Given the description of an element on the screen output the (x, y) to click on. 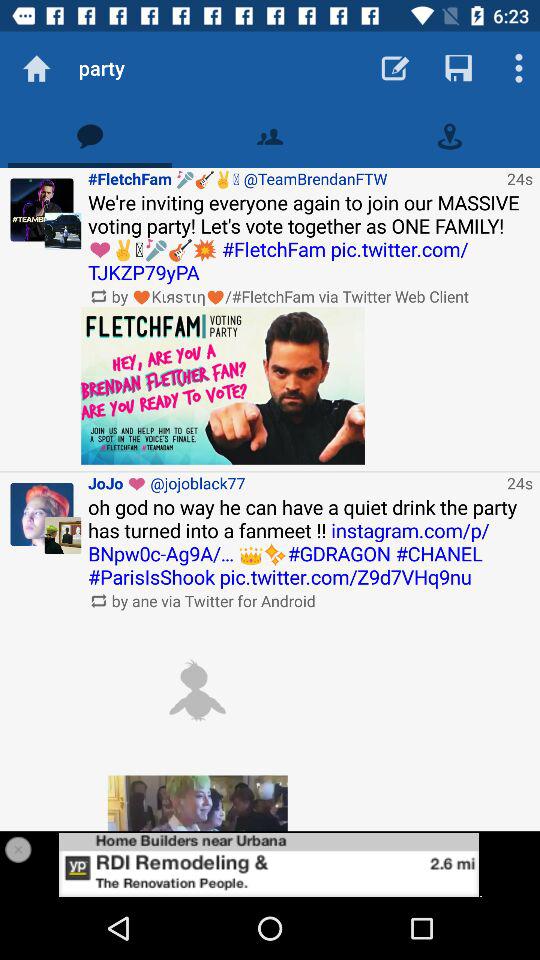
click the oh god no item (310, 541)
